Given the description of an element on the screen output the (x, y) to click on. 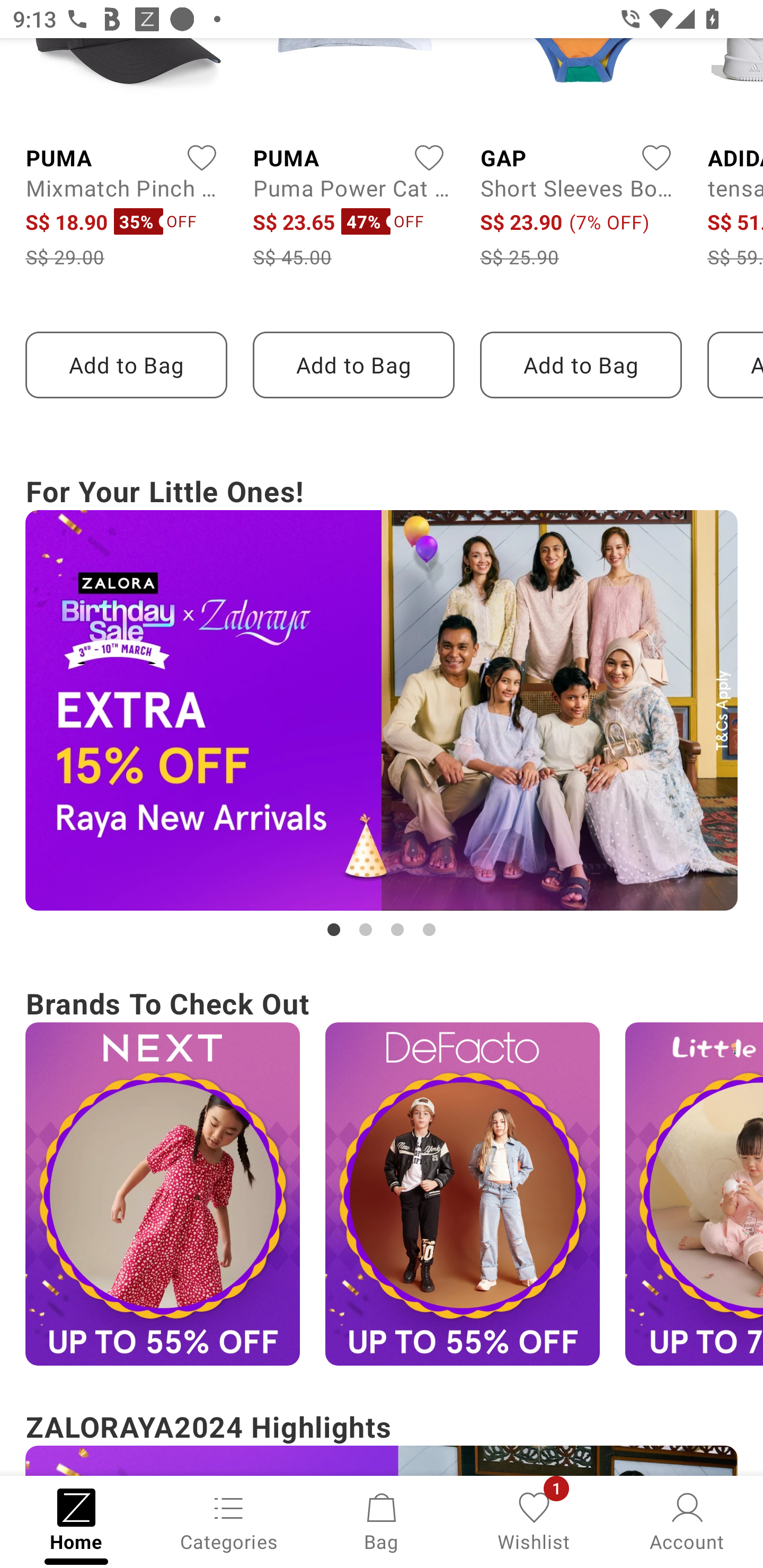
Add to Bag (126, 364)
Add to Bag (353, 364)
Add to Bag (580, 364)
For Your Little Ones! Campaign banner (381, 705)
Campaign banner (381, 710)
Campaign banner (162, 1193)
Campaign banner (462, 1193)
Campaign banner (693, 1193)
Categories (228, 1519)
Bag (381, 1519)
Wishlist, 1 new notification Wishlist (533, 1519)
Account (686, 1519)
